Given the description of an element on the screen output the (x, y) to click on. 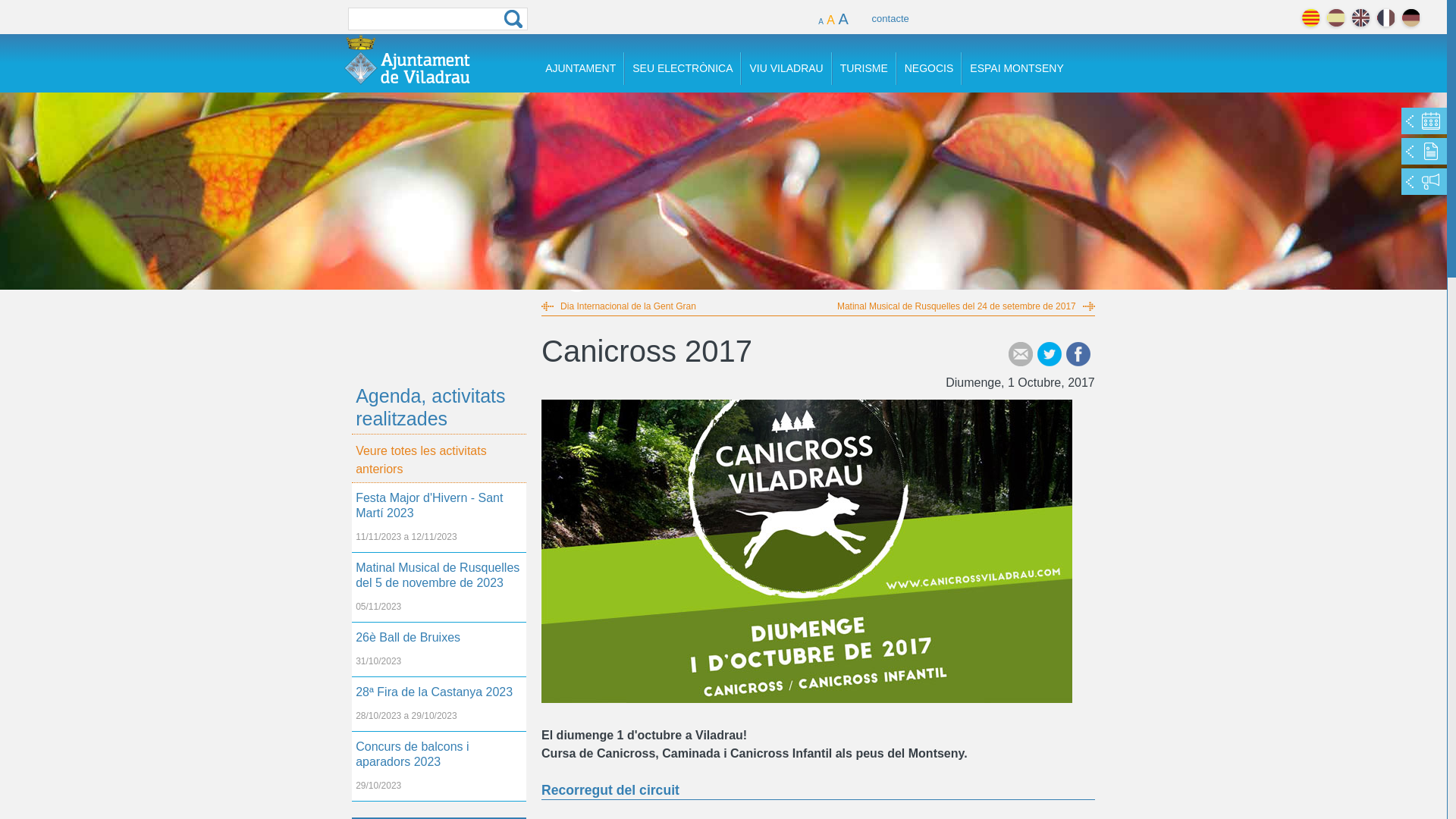
31/10/2023 Element type: text (438, 664)
VIU VILADRAU Element type: text (785, 68)
Matinal Musical de Rusquelles del 5 de novembre de 2023 Element type: text (438, 575)
29/10/2023 Element type: text (438, 789)
A Element type: text (830, 16)
Concurs de balcons i aparadors 2023 Element type: text (438, 754)
28/10/2023 a 29/10/2023 Element type: text (438, 719)
Matinal Musical de Rusquelles del 24 de setembre de 2017 Element type: text (966, 306)
Inici Element type: hover (407, 59)
Tweet Element type: text (1049, 354)
Facebook Element type: text (1078, 354)
A Element type: text (842, 15)
deutch Element type: text (1410, 17)
Jump to navigation Element type: text (723, 2)
english Element type: text (1360, 17)
Dia Internacional de la Gent Gran Element type: text (618, 306)
contacte Element type: text (890, 15)
Cerca Element type: text (513, 18)
TURISME Element type: text (863, 68)
05/11/2023 Element type: text (438, 610)
Veure totes les activitats anteriors Element type: text (438, 458)
ESPAI MONTSENY Element type: text (1015, 68)
11/11/2023 a 12/11/2023 Element type: text (438, 540)
NEGOCIS Element type: text (929, 68)
e-mail Element type: text (1020, 354)
AJUNTAMENT Element type: text (580, 68)
A Element type: text (820, 18)
